Given the description of an element on the screen output the (x, y) to click on. 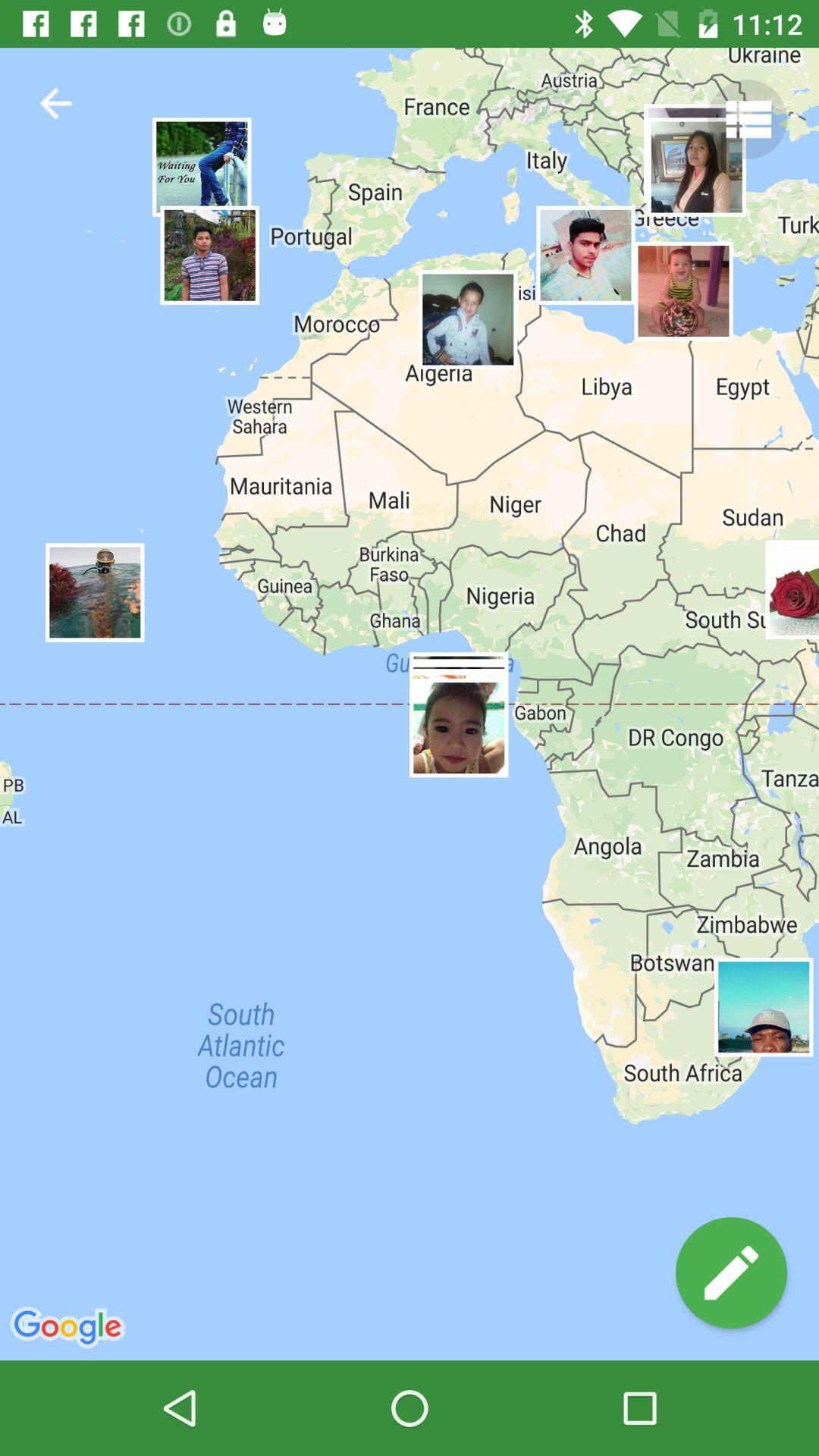
edit (731, 1272)
